Given the description of an element on the screen output the (x, y) to click on. 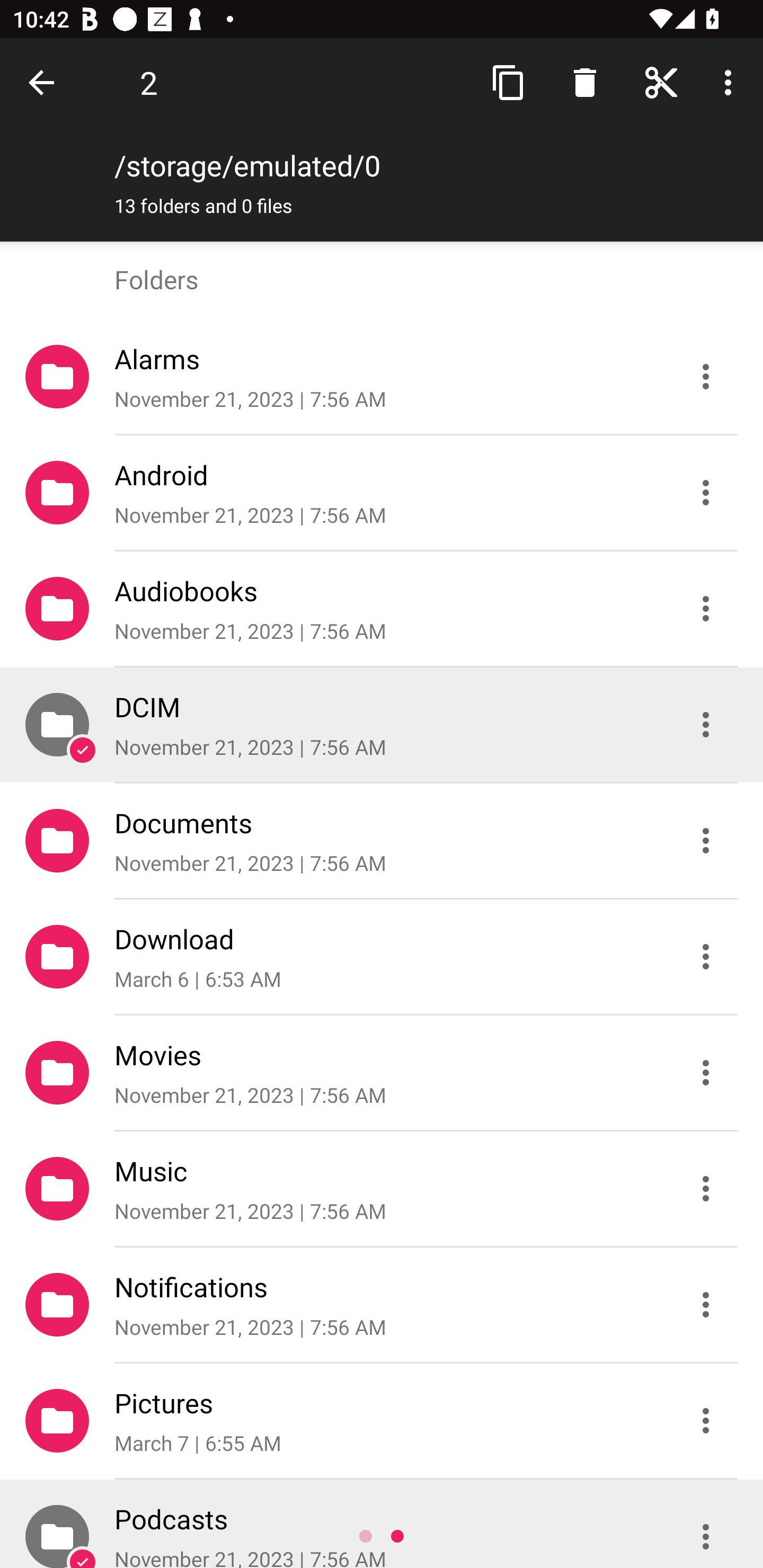
2 (148, 82)
Done (44, 81)
Copy (508, 81)
Delete (585, 81)
Search (661, 81)
More options (731, 81)
Alarms November 21, 2023 | 7:56 AM (381, 376)
Android November 21, 2023 | 7:56 AM (381, 492)
Audiobooks November 21, 2023 | 7:56 AM (381, 608)
DCIM November 21, 2023 | 7:56 AM (381, 724)
Documents November 21, 2023 | 7:56 AM (381, 841)
Download March 6 | 6:53 AM (381, 957)
Movies November 21, 2023 | 7:56 AM (381, 1073)
Music November 21, 2023 | 7:56 AM (381, 1189)
Notifications November 21, 2023 | 7:56 AM (381, 1305)
Pictures March 7 | 6:55 AM (381, 1421)
Podcasts November 21, 2023 | 7:56 AM (381, 1524)
